Given the description of an element on the screen output the (x, y) to click on. 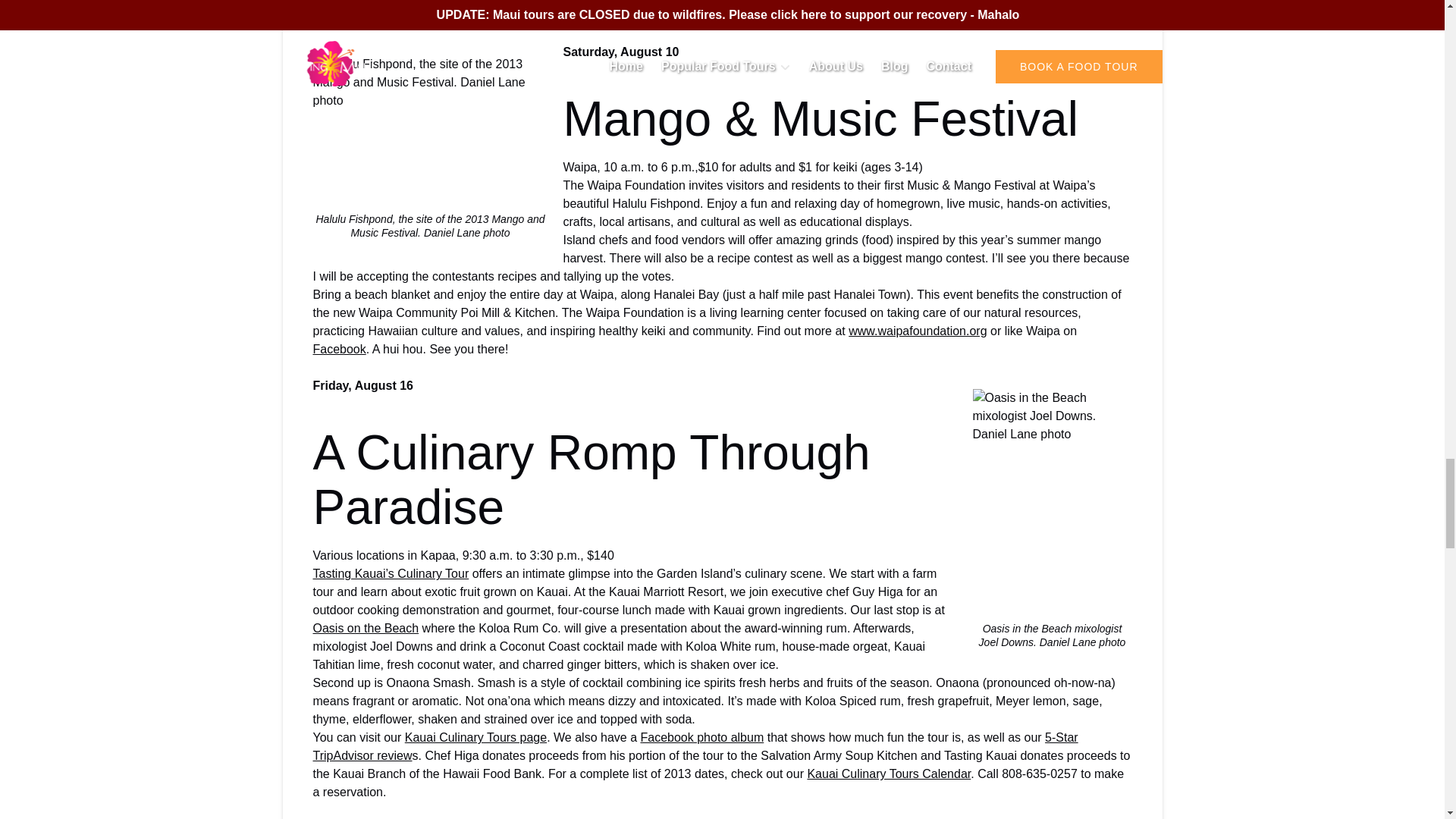
www.waipafoundation.org (917, 330)
5-Star TripAdvisor review (695, 746)
Facebook (339, 349)
Oasis on the Beach (366, 627)
Facebook photo album (701, 737)
Kauai Culinary Tours page (475, 737)
